Given the description of an element on the screen output the (x, y) to click on. 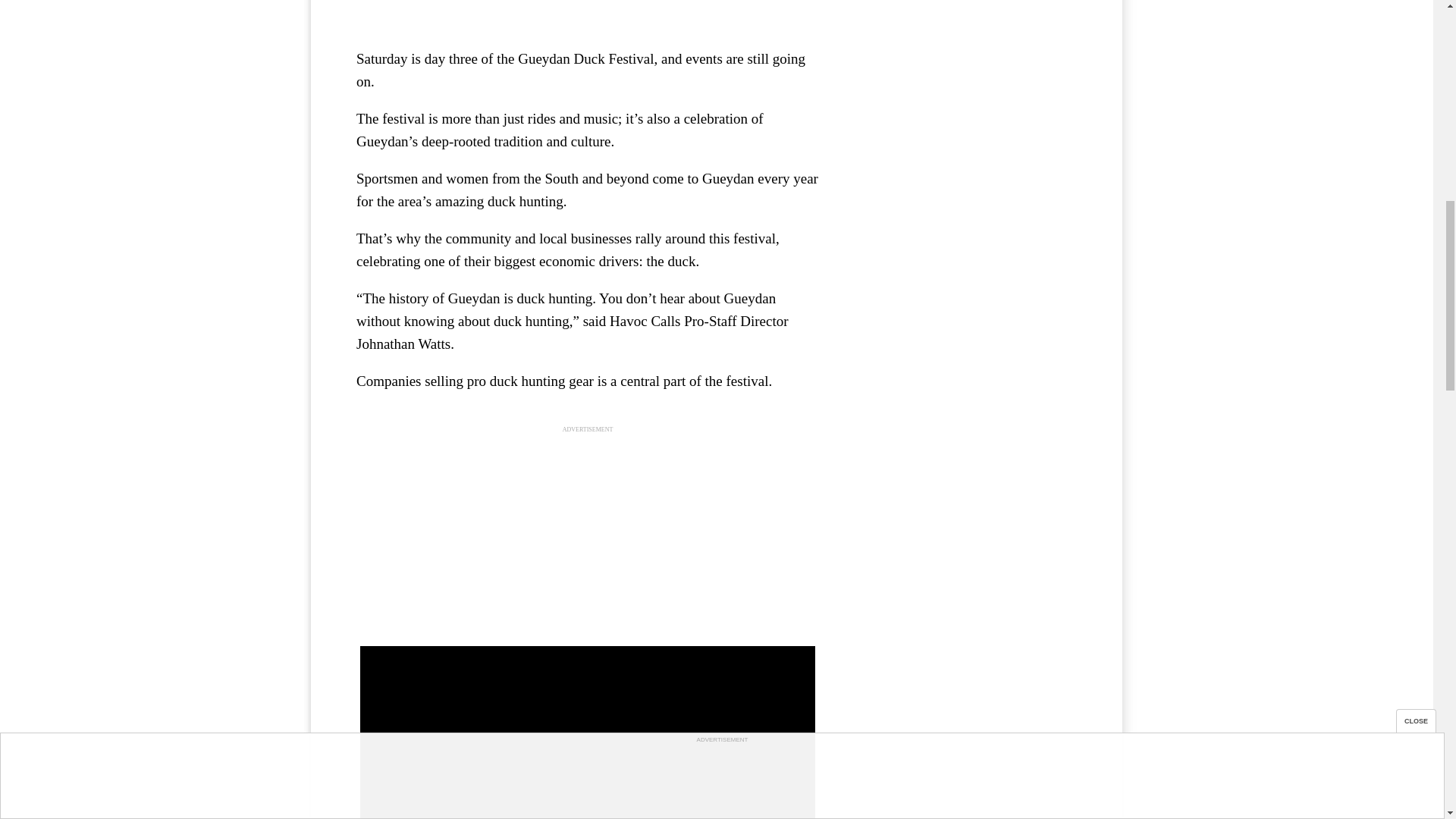
3rd party ad content (587, 539)
3rd party ad content (962, 51)
YouTube player (587, 16)
